Given the description of an element on the screen output the (x, y) to click on. 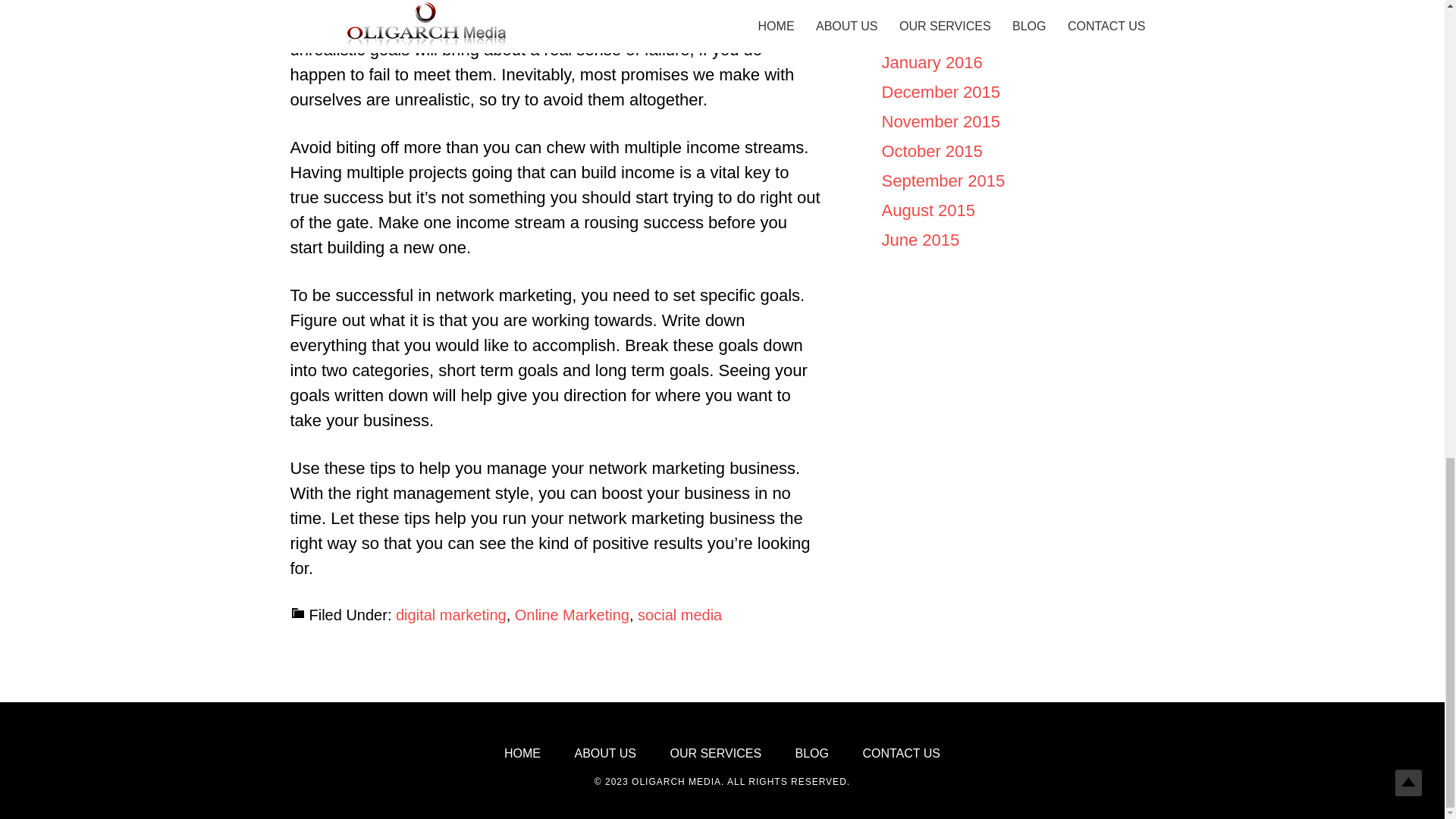
Online Marketing (571, 614)
digital marketing (451, 614)
social media (679, 614)
